Given the description of an element on the screen output the (x, y) to click on. 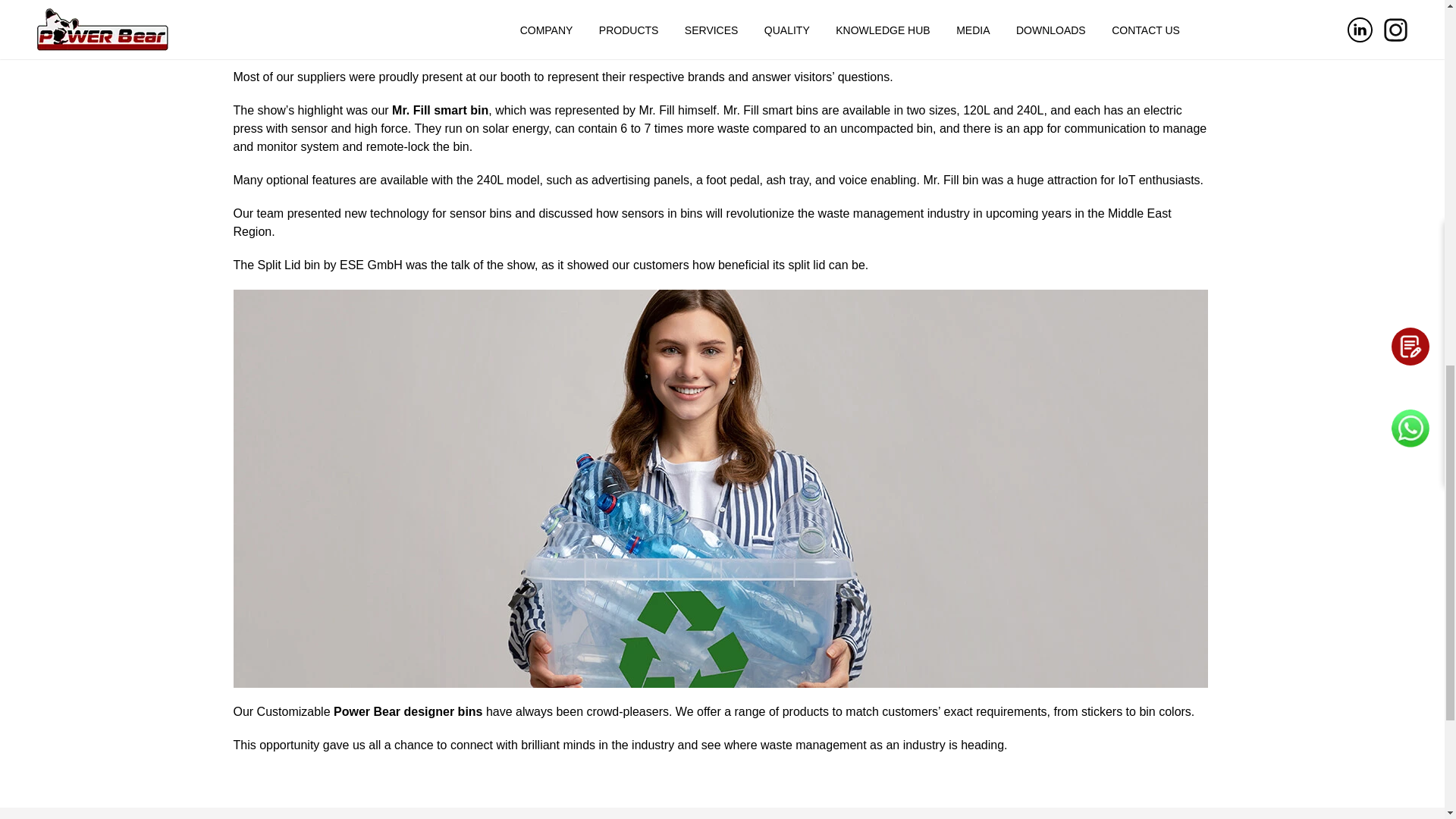
waste managemen (688, 24)
Power Bear designer bins (408, 711)
Mr. Fill smart bin (439, 110)
